Given the description of an element on the screen output the (x, y) to click on. 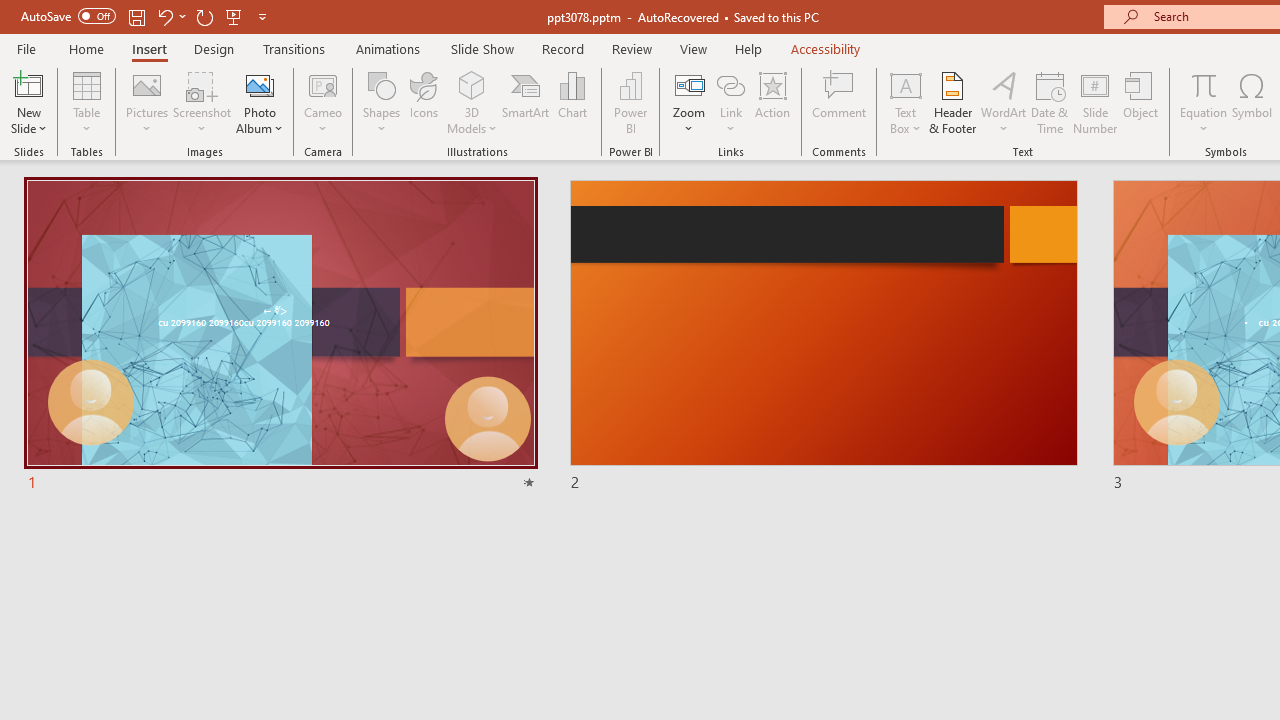
Symbol... (1252, 102)
Object... (1141, 102)
Icons (424, 102)
Action (772, 102)
